Given the description of an element on the screen output the (x, y) to click on. 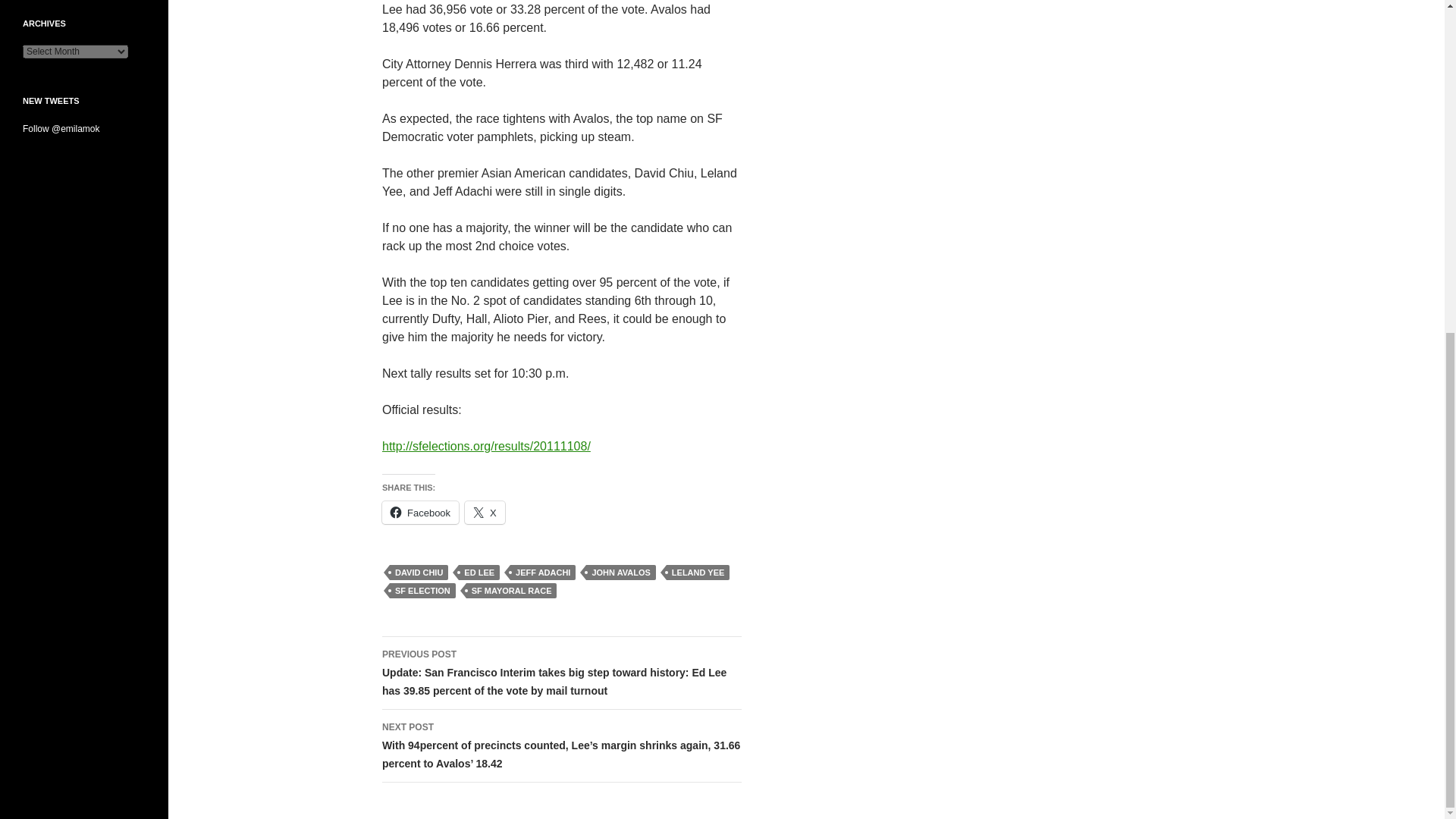
Click to share on X (484, 512)
LELAND YEE (697, 572)
ED LEE (478, 572)
JEFF ADACHI (543, 572)
DAVID CHIU (419, 572)
JOHN AVALOS (620, 572)
SF MAYORAL RACE (511, 590)
Facebook (419, 512)
SF ELECTION (422, 590)
